Given the description of an element on the screen output the (x, y) to click on. 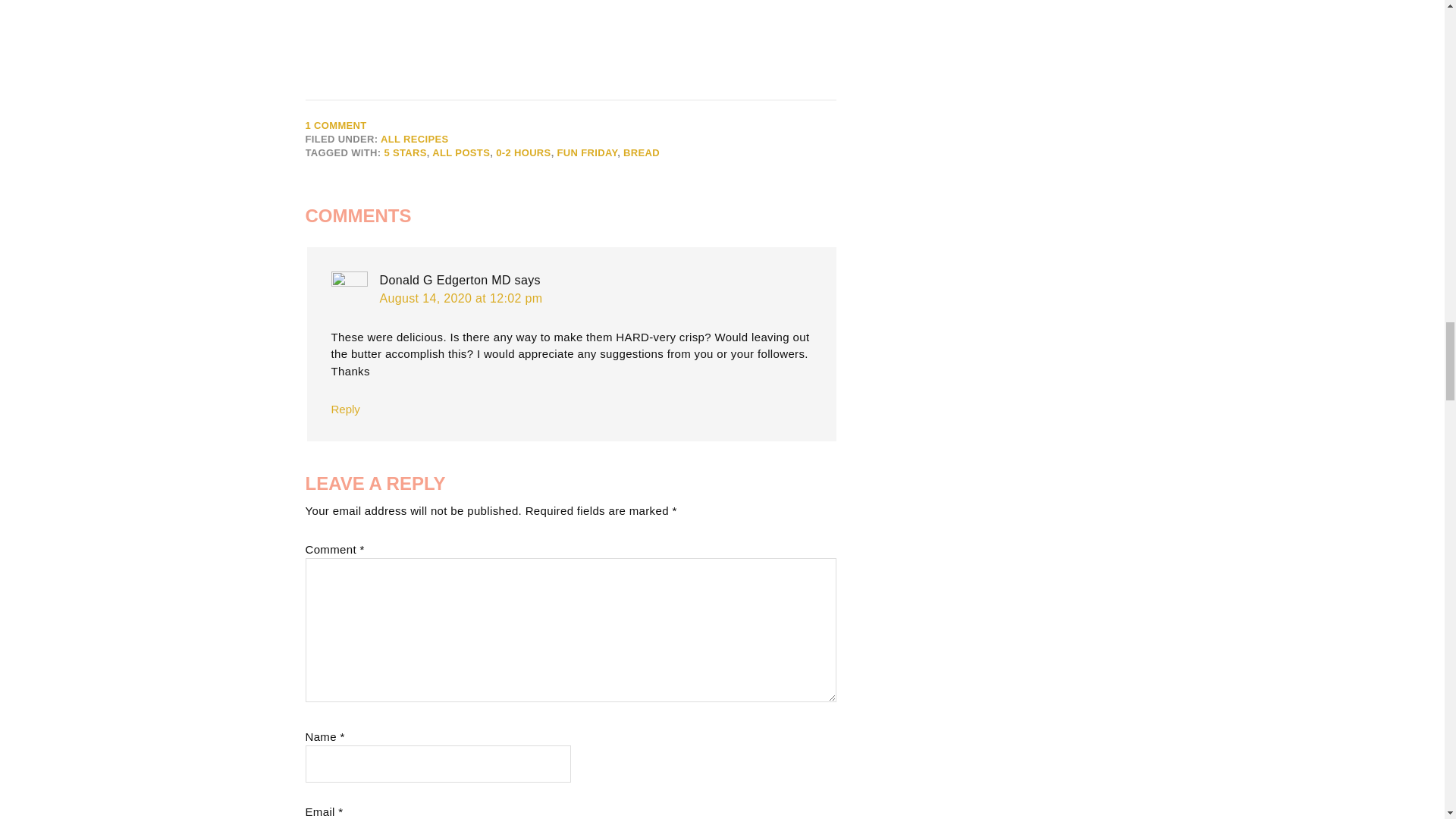
FUN FRIDAY (587, 152)
5 STARS (405, 152)
ALL RECIPES (414, 138)
BREAD (641, 152)
1 COMMENT (335, 125)
0-2 HOURS (523, 152)
Reply (344, 408)
August 14, 2020 at 12:02 pm (459, 297)
ALL POSTS (460, 152)
